Given the description of an element on the screen output the (x, y) to click on. 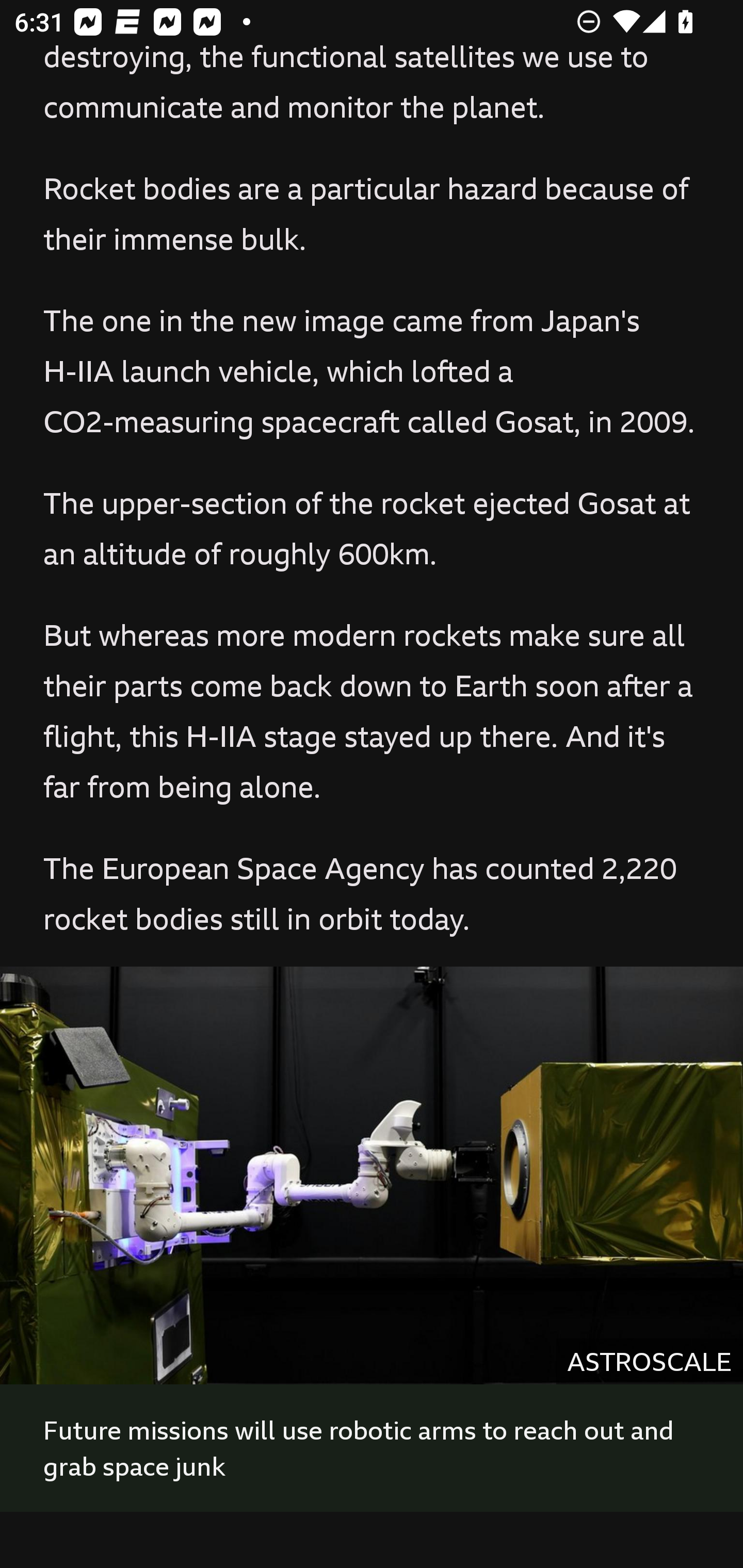
Robot arm (371, 1174)
